Given the description of an element on the screen output the (x, y) to click on. 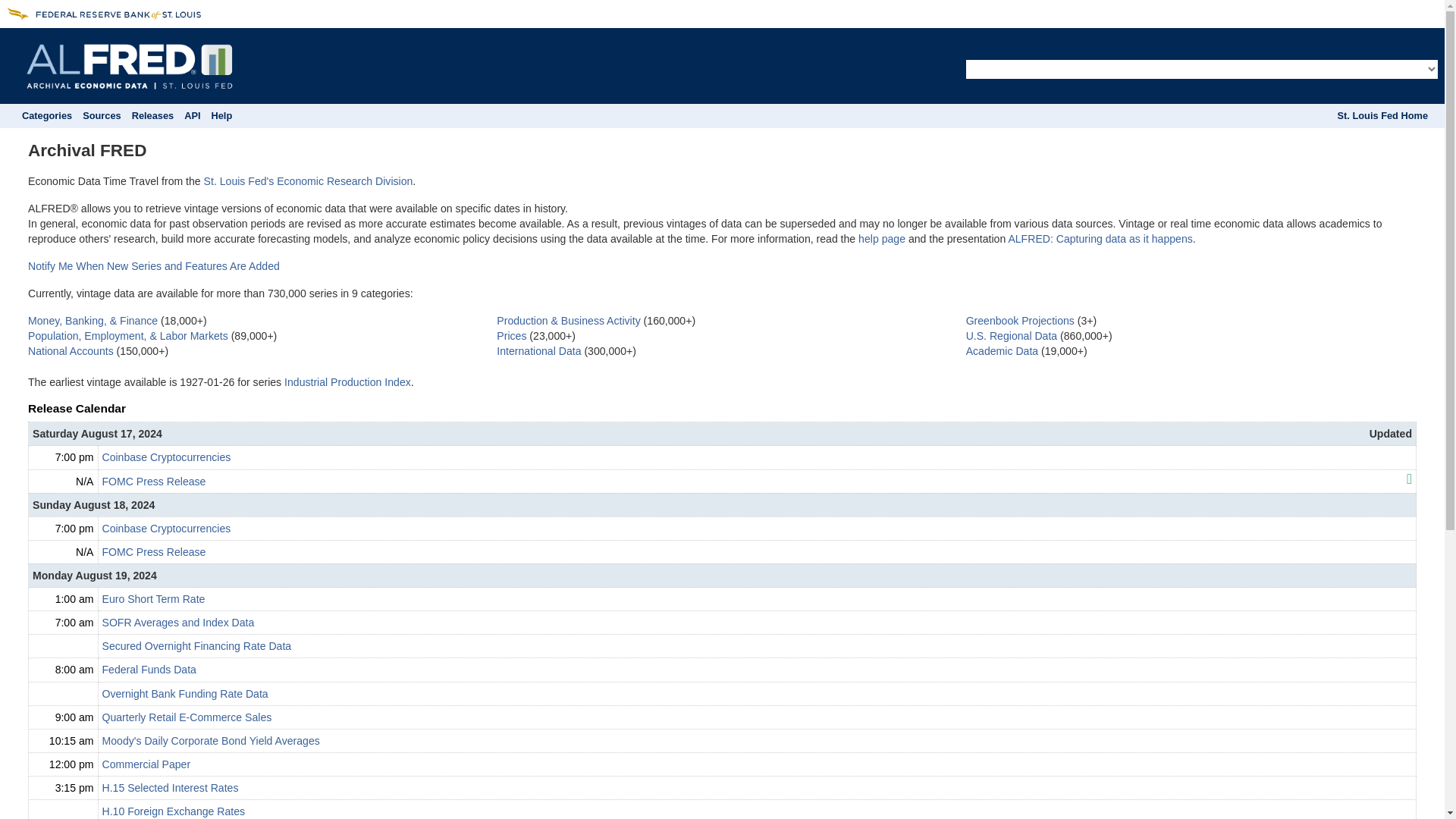
SOFR Averages and Index Data (177, 622)
Categories (46, 115)
Moody's Daily Corporate Bond Yield Averages (209, 740)
Secured Overnight Financing Rate Data (196, 645)
Prices (510, 336)
U.S. Regional Data (1012, 336)
National Accounts (70, 350)
Quarterly Retail E-Commerce Sales (185, 717)
Overnight Bank Funding Rate Data (184, 693)
Releases (152, 115)
